Given the description of an element on the screen output the (x, y) to click on. 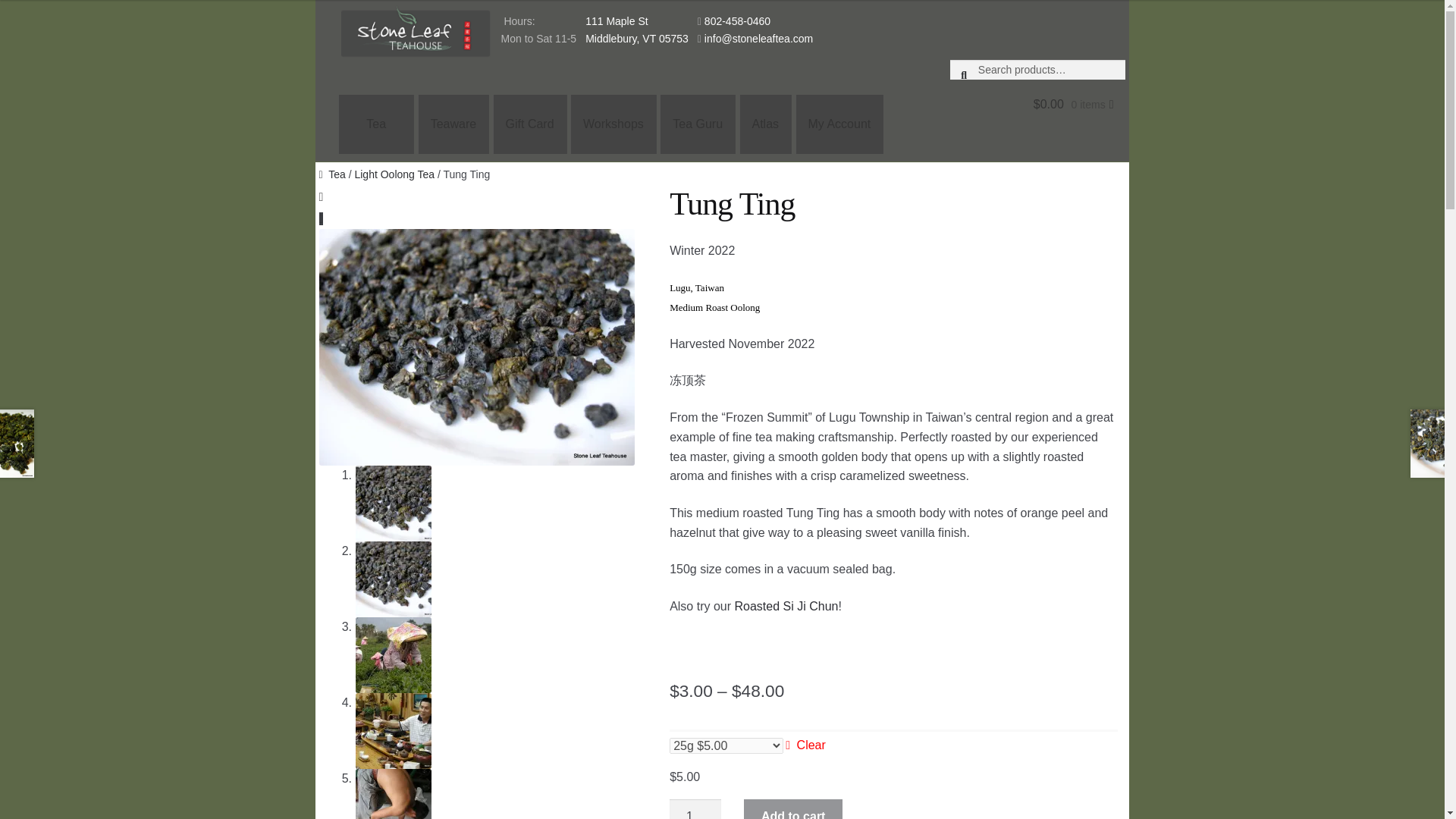
Light Oolong Tea (393, 174)
Tea (332, 174)
Add to cart (793, 809)
My Account (839, 124)
Tea Guru (698, 124)
Tea (376, 124)
View your shopping cart (1037, 110)
Roasted Si Ji Chun (785, 605)
802-458-0460 (737, 21)
